Given the description of an element on the screen output the (x, y) to click on. 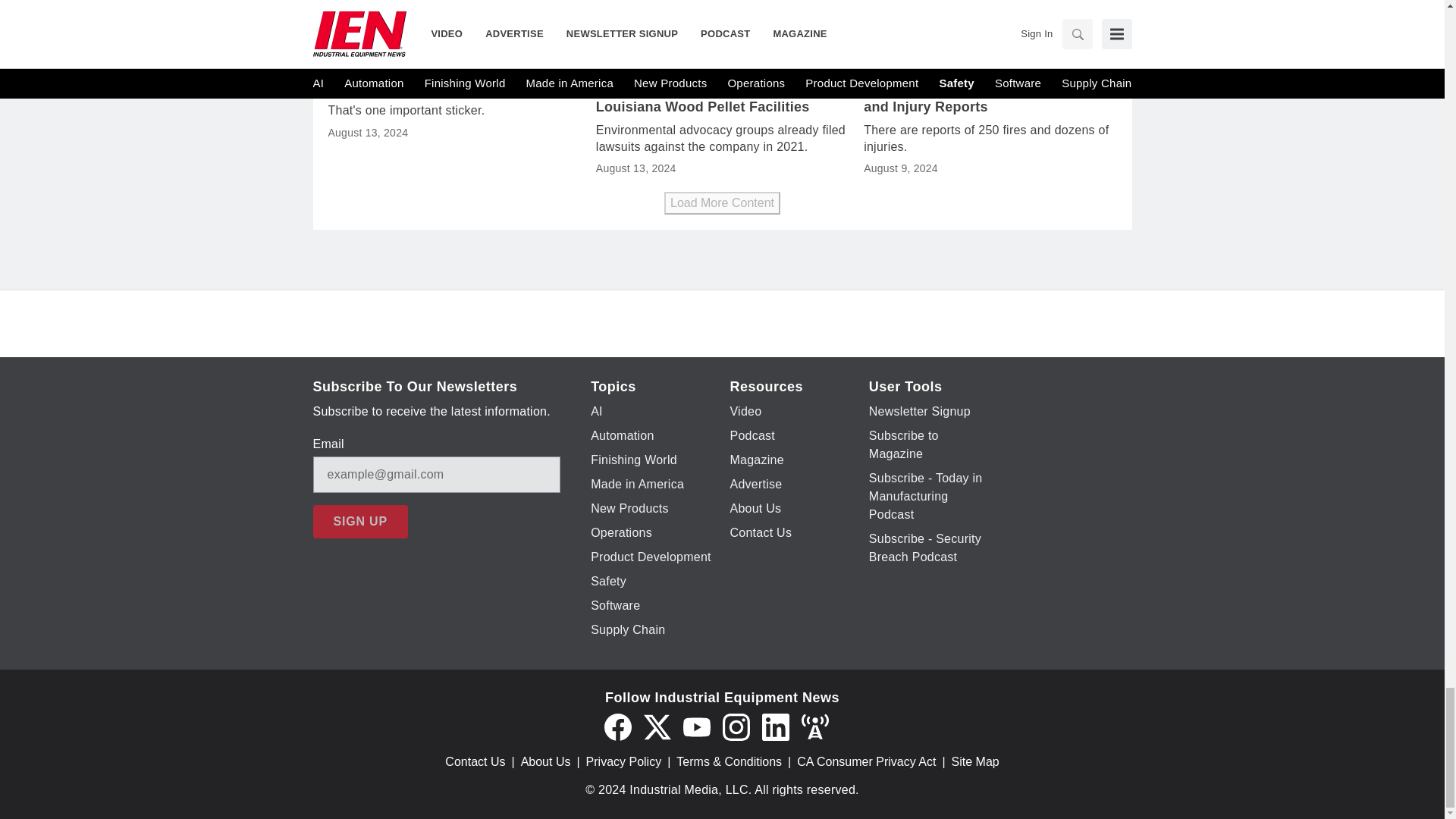
Twitter X icon (656, 727)
YouTube icon (696, 727)
LinkedIn icon (775, 727)
Facebook icon (617, 727)
Instagram icon (735, 727)
